Given the description of an element on the screen output the (x, y) to click on. 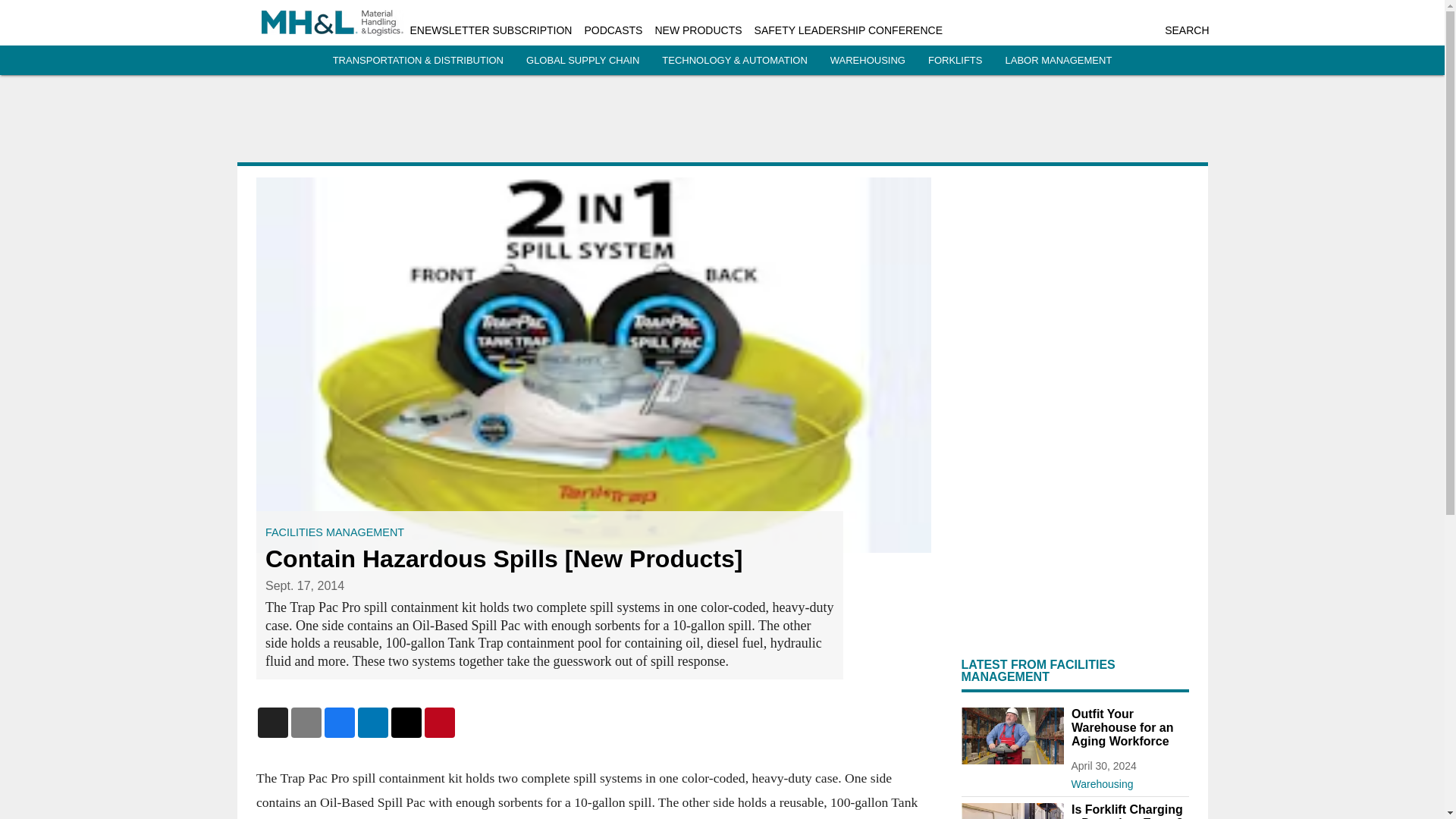
SAFETY LEADERSHIP CONFERENCE (848, 30)
Warehousing (1129, 781)
FACILITIES MANAGEMENT (334, 532)
Forklift Charging (1012, 811)
WAREHOUSING (867, 60)
NEW PRODUCTS (697, 30)
FORKLIFTS (955, 60)
GLOBAL SUPPLY CHAIN (582, 60)
Outfit Your Warehouse for an Aging Workforce (1129, 727)
LABOR MANAGEMENT (1058, 60)
SEARCH (1186, 30)
PODCASTS (612, 30)
ENEWSLETTER SUBSCRIPTION (490, 30)
Is Forklift Charging a Downtime Event? (1129, 811)
